Given the description of an element on the screen output the (x, y) to click on. 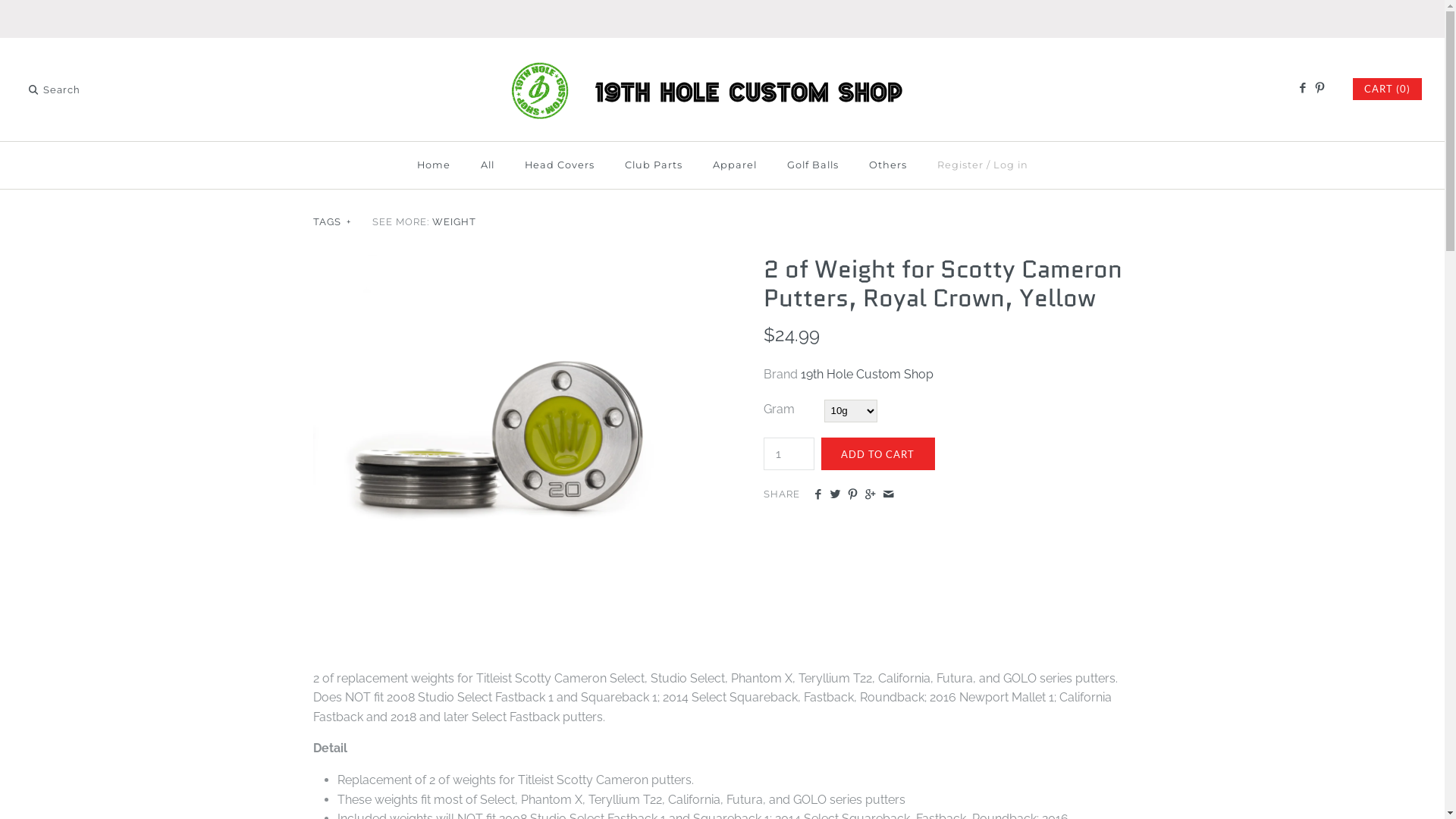
WEIGHT Element type: text (454, 221)
Share on Google+ Element type: hover (869, 495)
TAGS + Element type: text (332, 221)
Pin the main image Element type: hover (852, 495)
19th Hole Custom Shop Element type: text (866, 374)
CART (0) Element type: text (1386, 89)
All Element type: text (487, 165)
19thHoleCustomShop Element type: hover (721, 62)
Share on Facebook Element type: hover (816, 495)
Log in Element type: text (1010, 165)
Club Parts Element type: text (653, 165)
Facebook Element type: hover (1301, 88)
Golf Balls Element type: text (812, 165)
Pinterest Element type: hover (1319, 88)
Home Element type: text (433, 165)
Apparel Element type: text (734, 165)
Others Element type: text (887, 165)
Share using email Element type: hover (888, 495)
Share on Twitter Element type: hover (835, 495)
Add to Cart Element type: text (877, 453)
Register Element type: text (960, 165)
Head Covers Element type: text (559, 165)
